Given the description of an element on the screen output the (x, y) to click on. 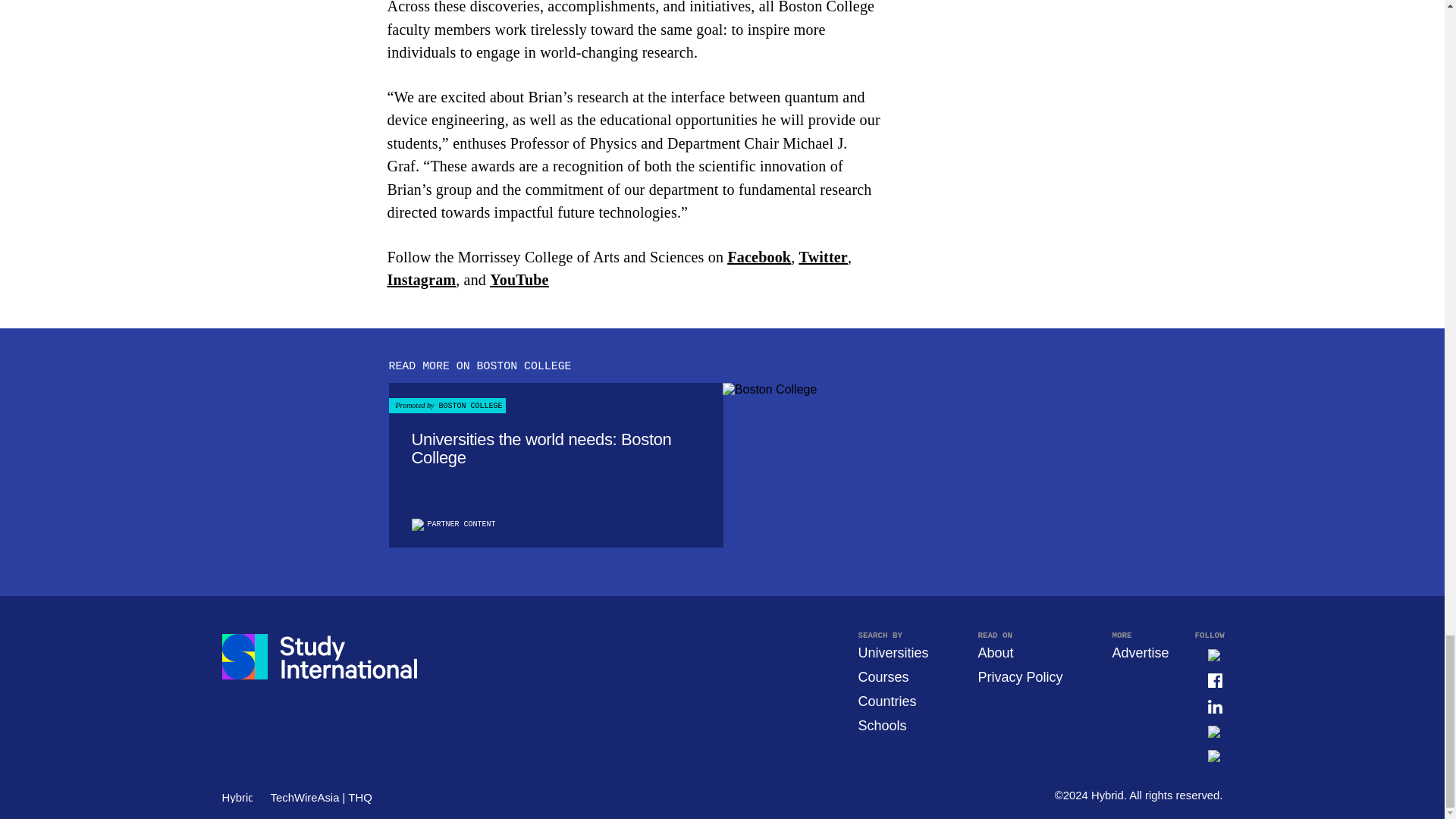
Instagram (421, 279)
Twitter (823, 256)
Facebook (758, 256)
YouTube (518, 279)
